Given the description of an element on the screen output the (x, y) to click on. 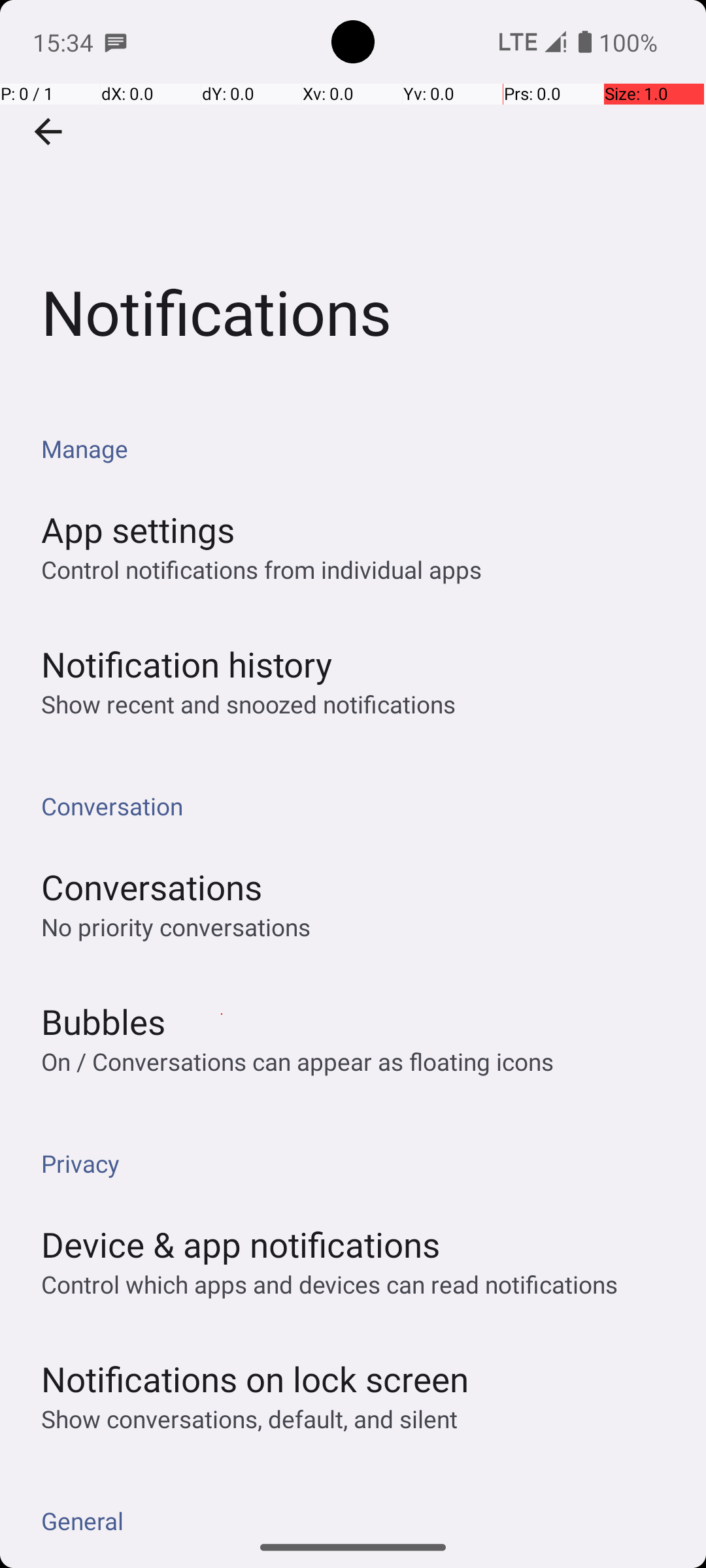
Show conversations, default, and silent Element type: android.widget.TextView (249, 1418)
